Given the description of an element on the screen output the (x, y) to click on. 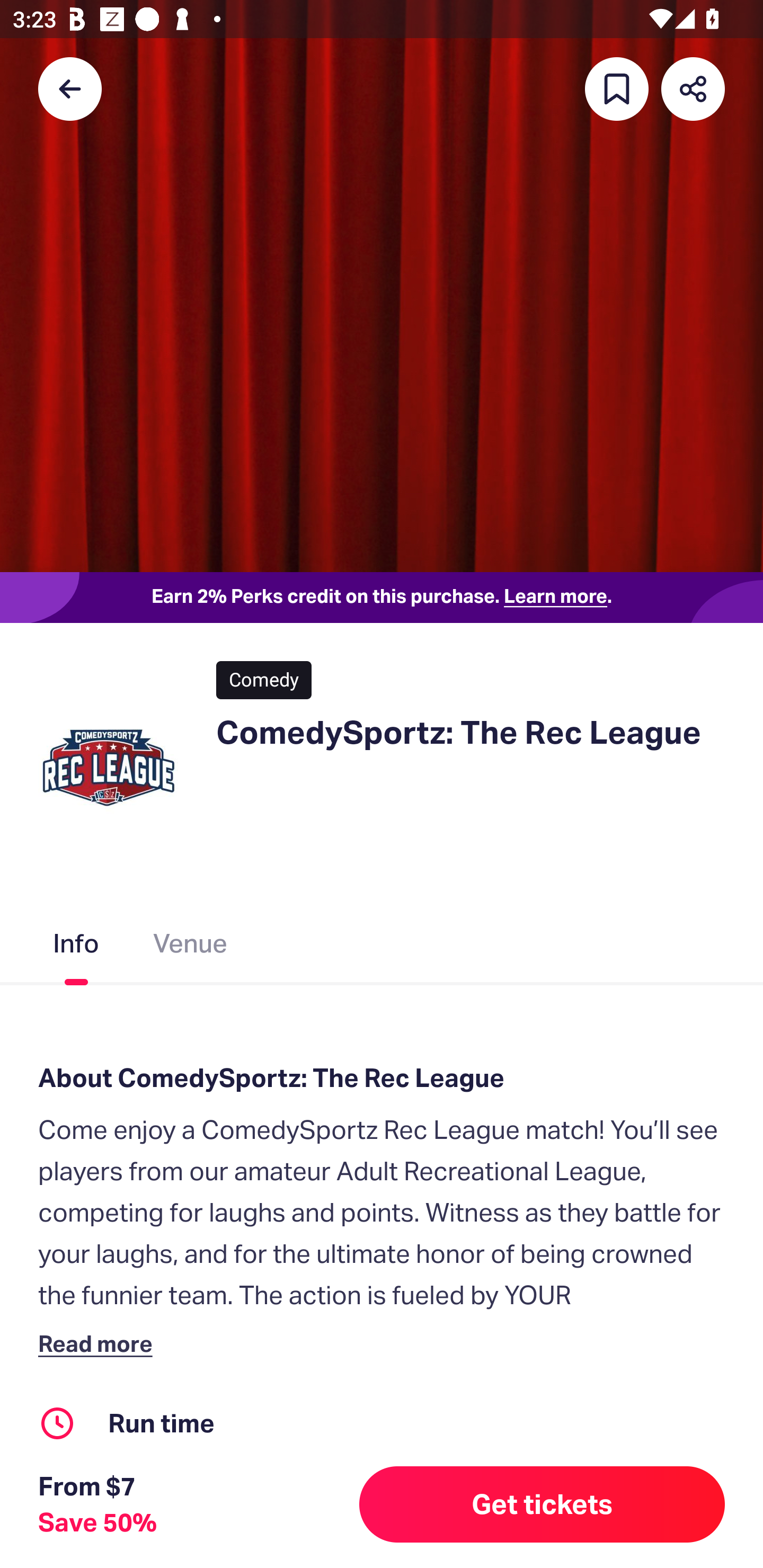
Earn 2% Perks credit on this purchase. Learn more. (381, 597)
Venue (190, 946)
About ComedySportz: The Rec League (381, 1077)
Read more (99, 1342)
Get tickets (541, 1504)
